Given the description of an element on the screen output the (x, y) to click on. 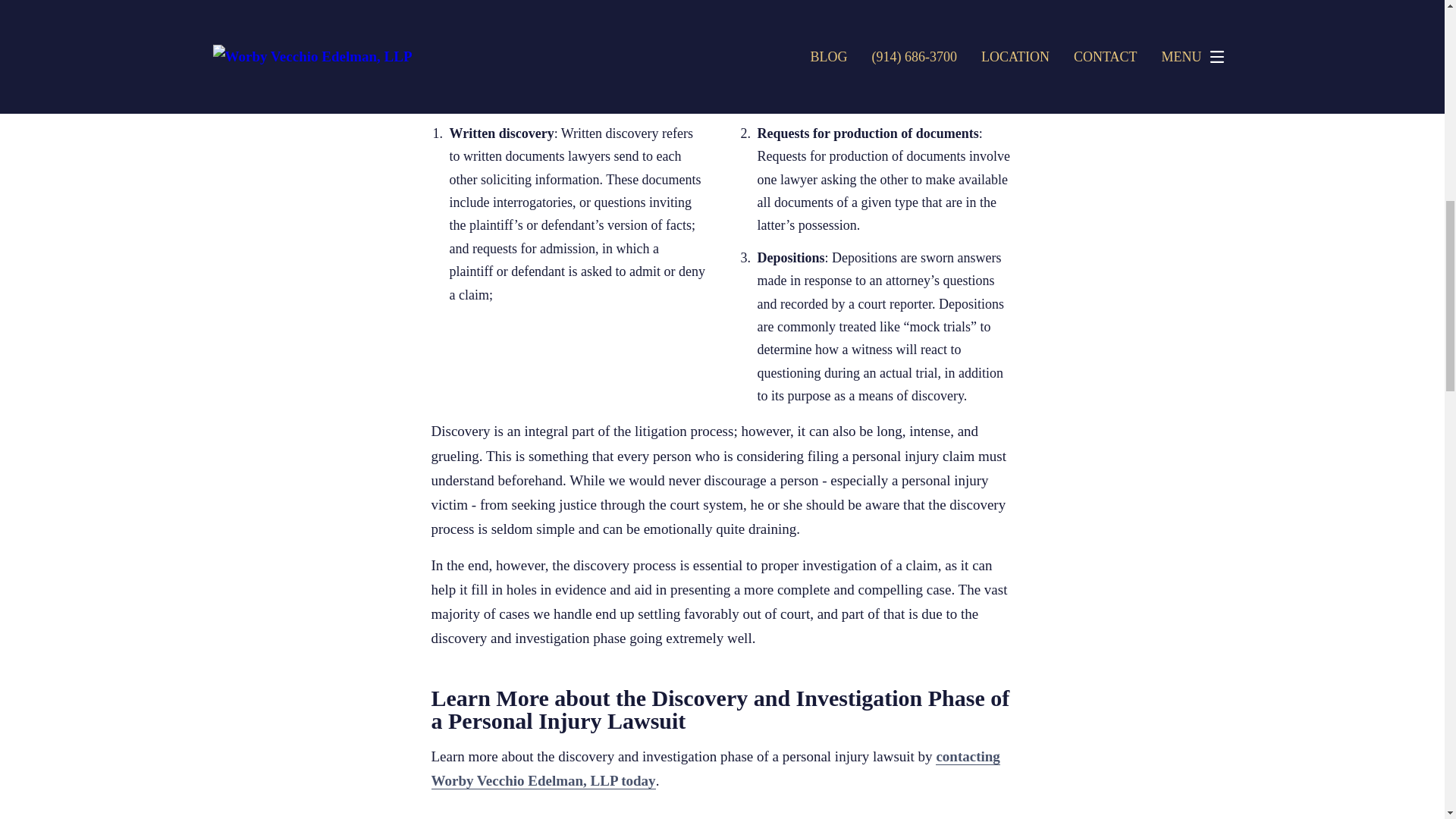
contacting Worby Vecchio Edelman, LLP today (714, 768)
